Given the description of an element on the screen output the (x, y) to click on. 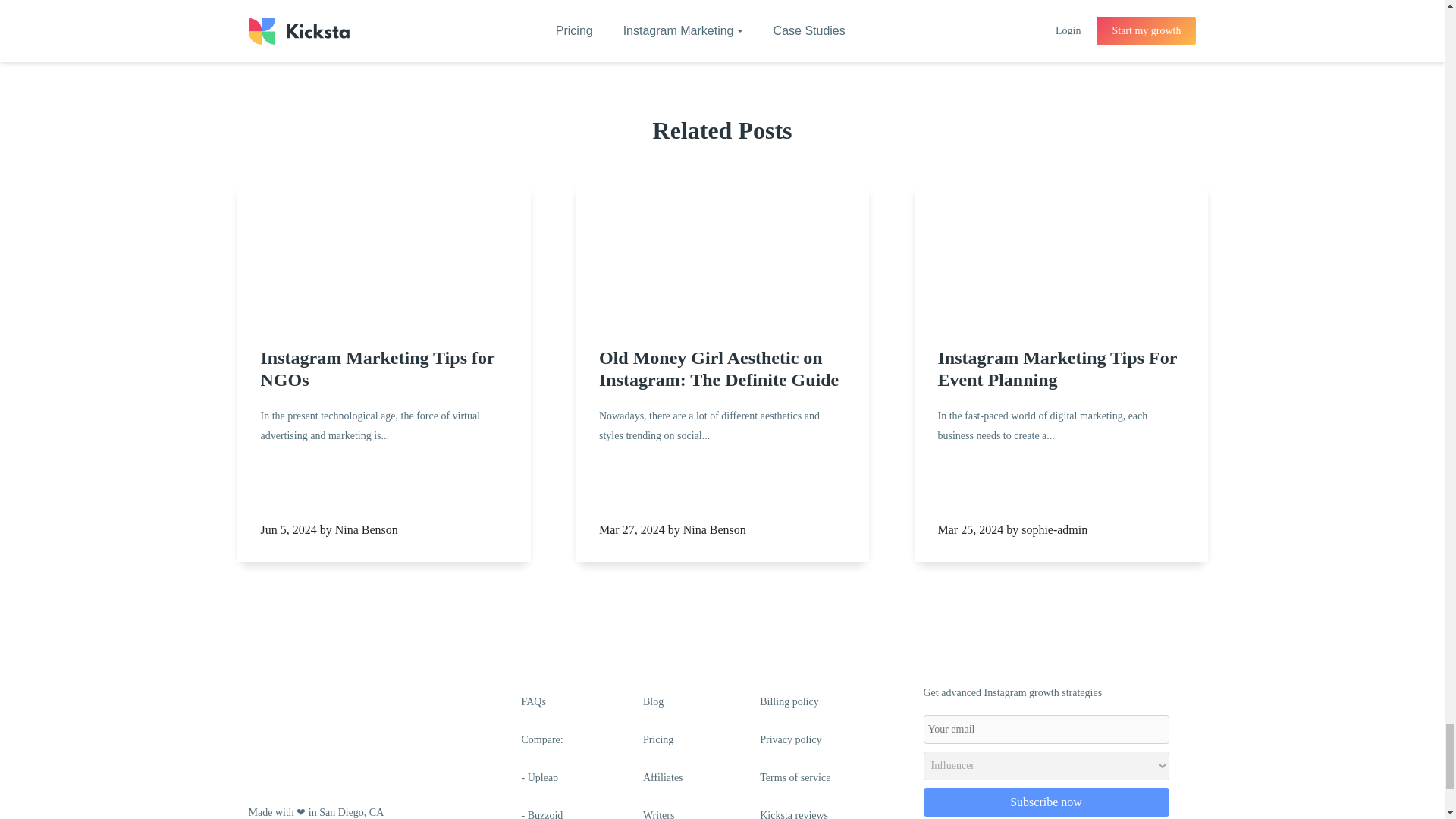
Subscribe now (1046, 801)
